Given the description of an element on the screen output the (x, y) to click on. 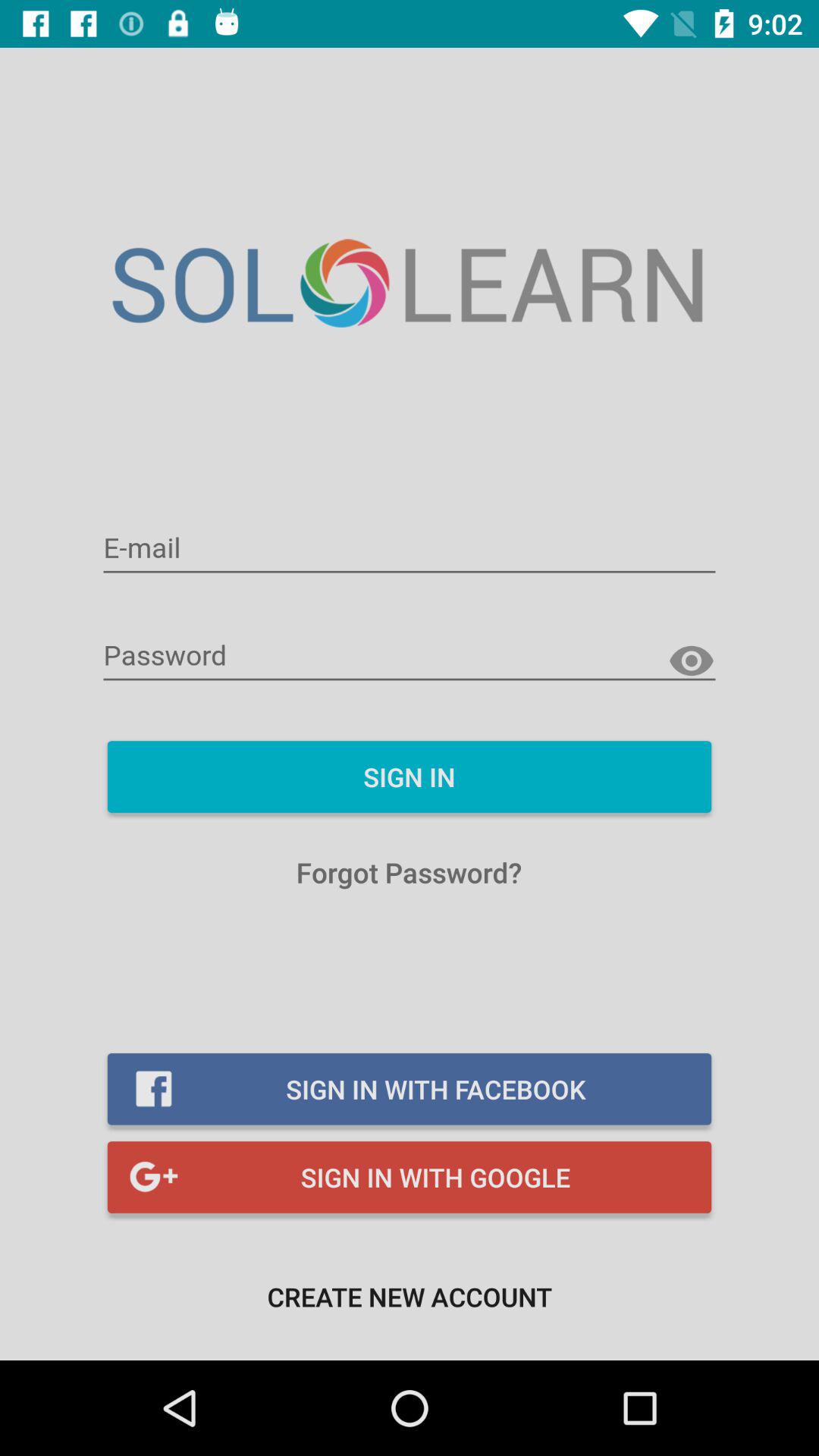
because back devicer (691, 661)
